Given the description of an element on the screen output the (x, y) to click on. 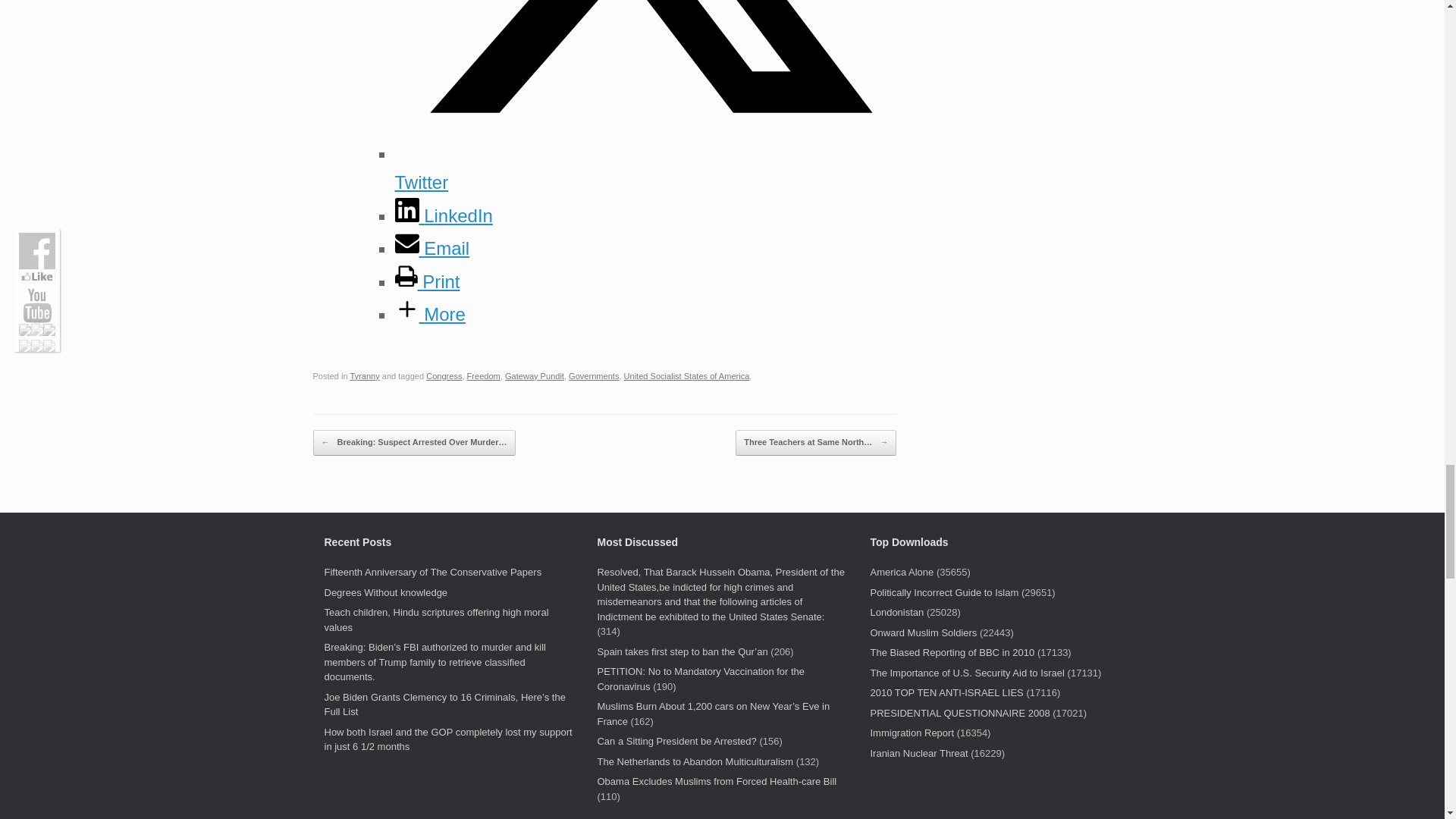
Email (431, 248)
Print (427, 281)
Twitter (645, 167)
LinkedIn (443, 215)
